Given the description of an element on the screen output the (x, y) to click on. 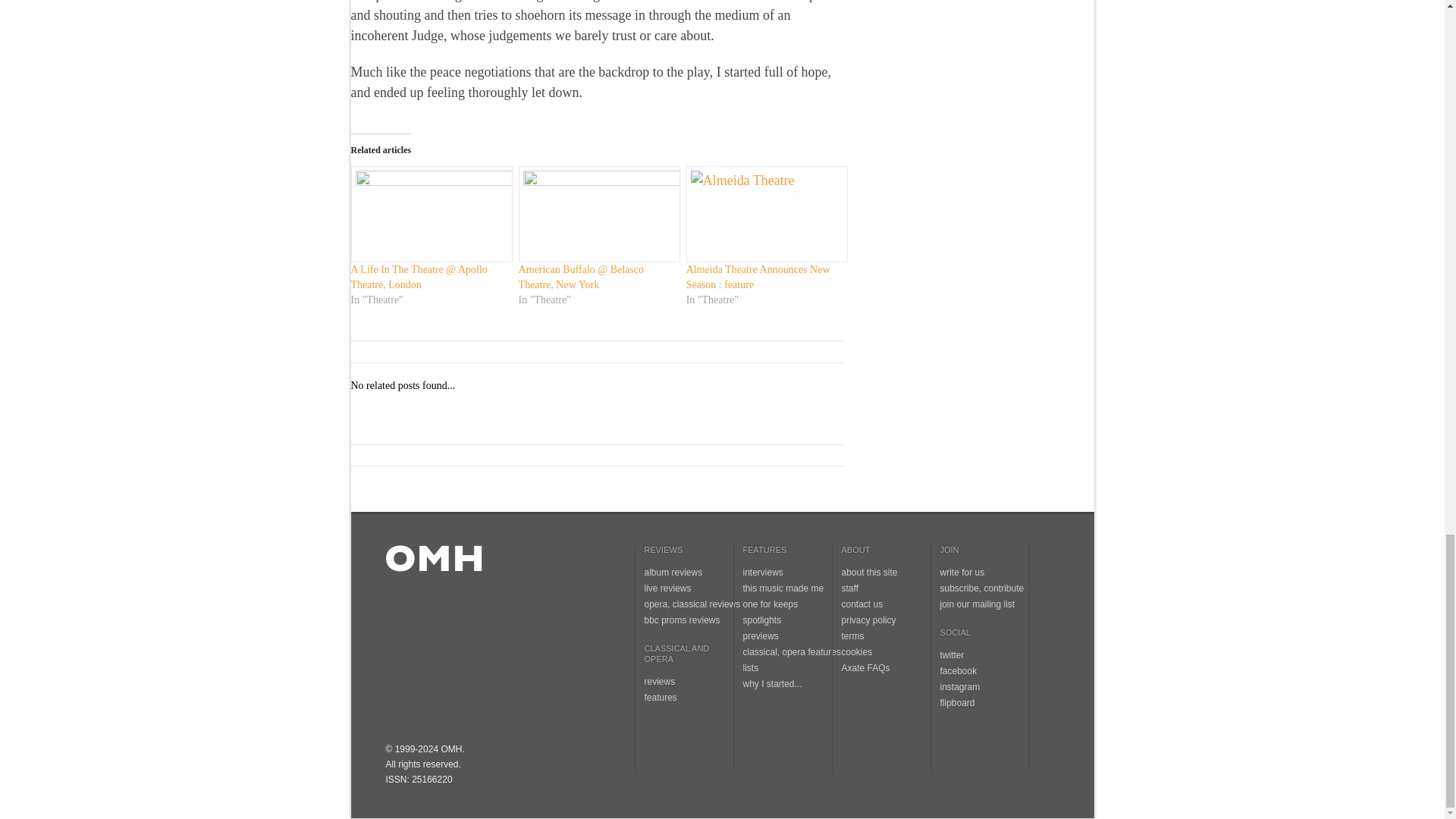
opera, classical reviews (693, 603)
live reviews (668, 588)
Almeida Theatre Announces New Season : feature (757, 276)
album reviews (674, 572)
